Given the description of an element on the screen output the (x, y) to click on. 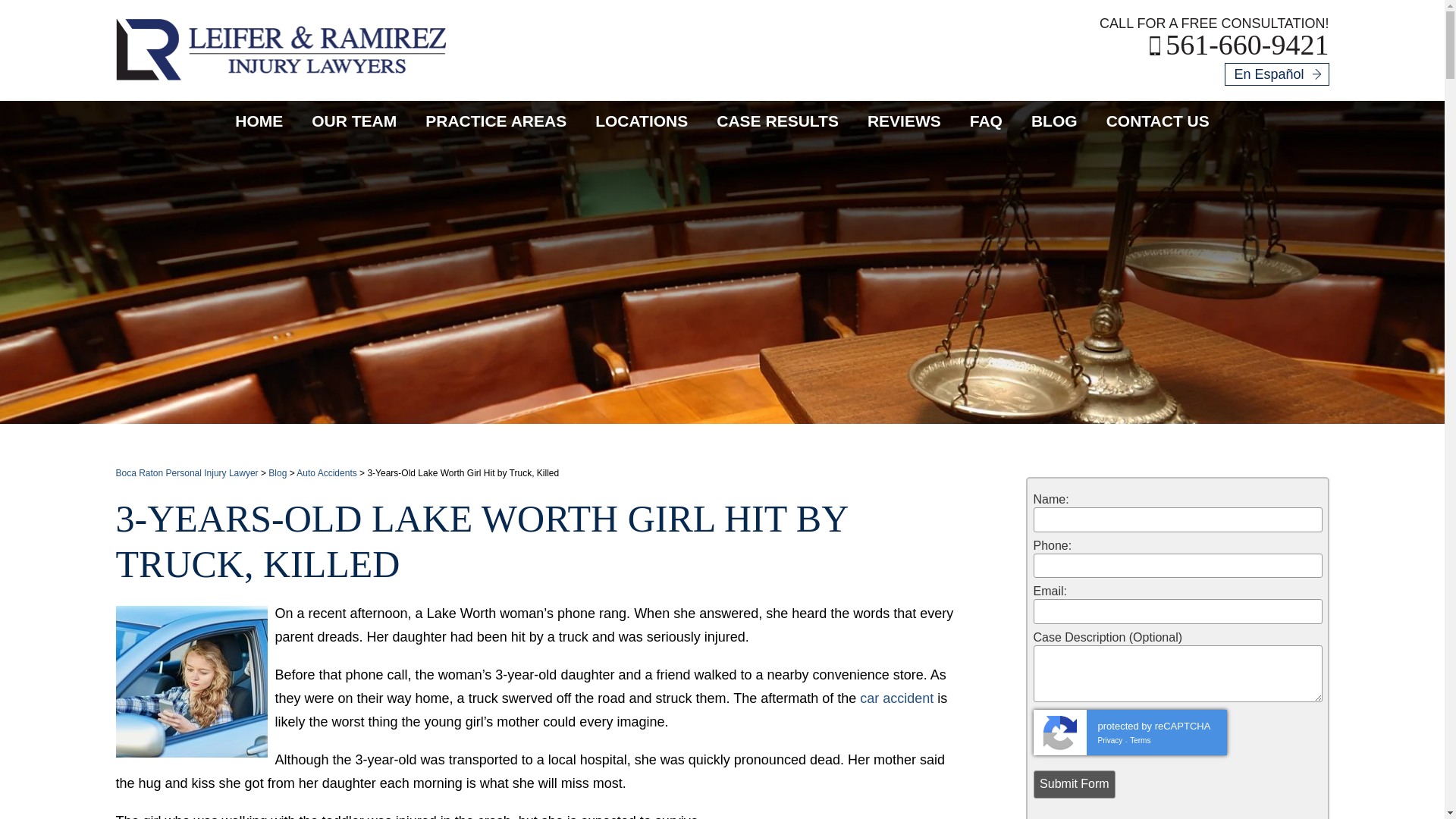
561-660-9421 (1238, 44)
LOCATIONS (640, 120)
HOME (259, 120)
Submit Form (1073, 784)
PRACTICE AREAS (495, 120)
OUR TEAM (353, 120)
